Given the description of an element on the screen output the (x, y) to click on. 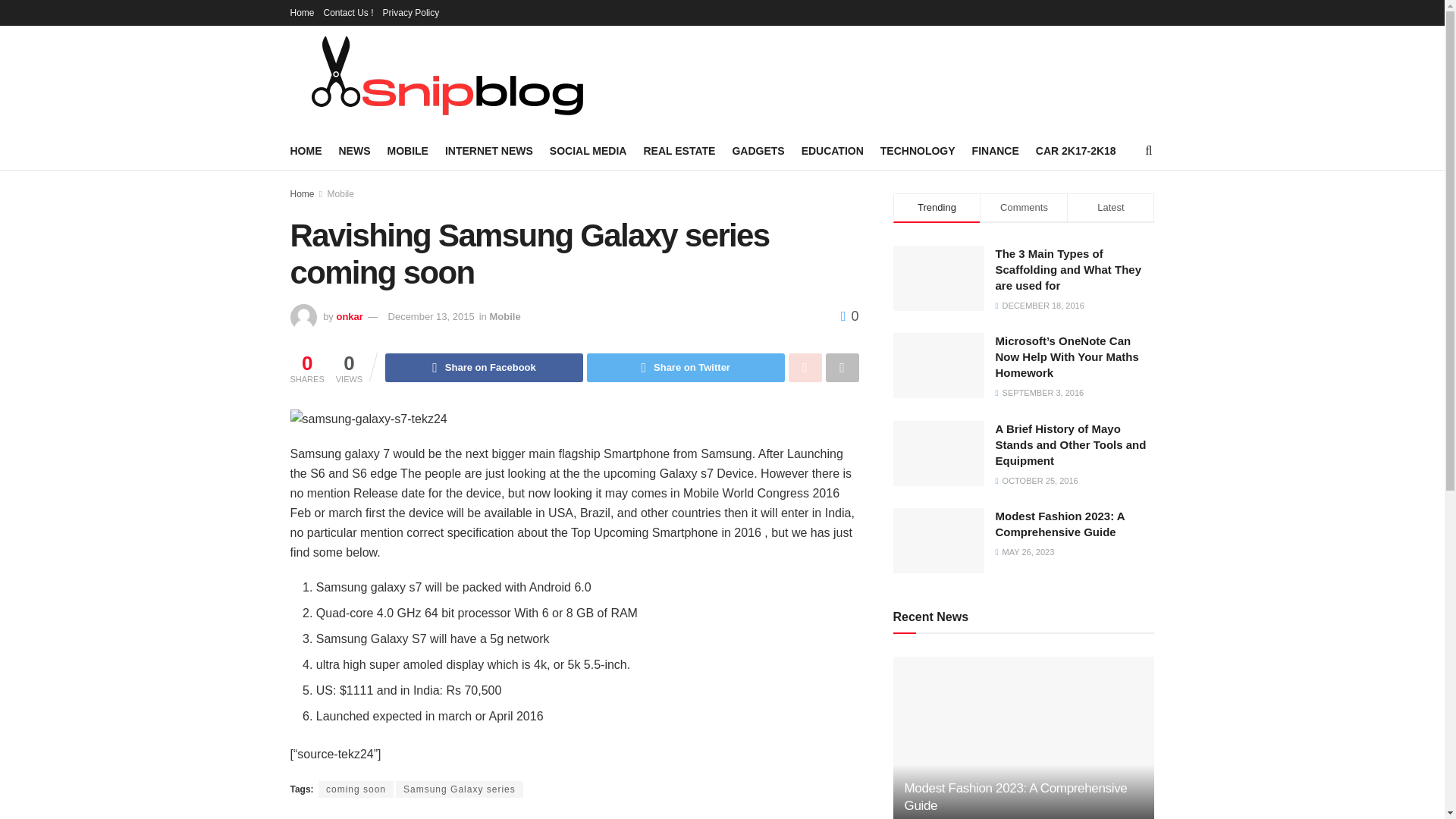
Mobile (504, 316)
CAR 2K17-2K18 (1075, 150)
Home (301, 194)
0 (850, 315)
NEWS (353, 150)
onkar (349, 316)
GADGETS (758, 150)
FINANCE (995, 150)
Mobile (340, 194)
REAL ESTATE (678, 150)
EDUCATION (832, 150)
HOME (305, 150)
Home (301, 12)
December 13, 2015 (431, 316)
INTERNET NEWS (488, 150)
